Given the description of an element on the screen output the (x, y) to click on. 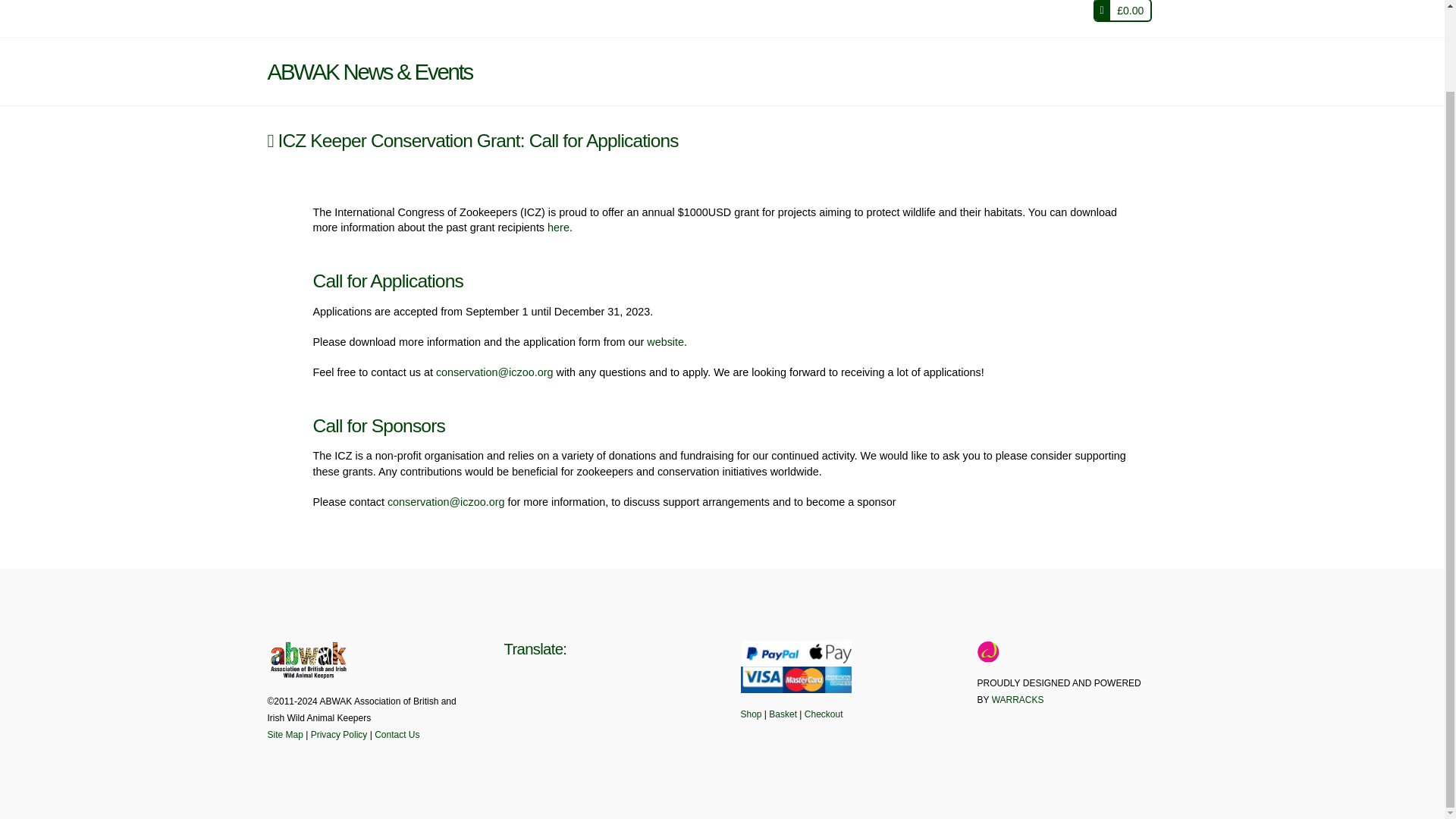
CAREERS (823, 18)
HOME (327, 18)
FAQS (901, 18)
ABOUT US (411, 18)
MEMBERSHIP (519, 18)
CONTACT (978, 18)
SHOP (745, 18)
